Given the description of an element on the screen output the (x, y) to click on. 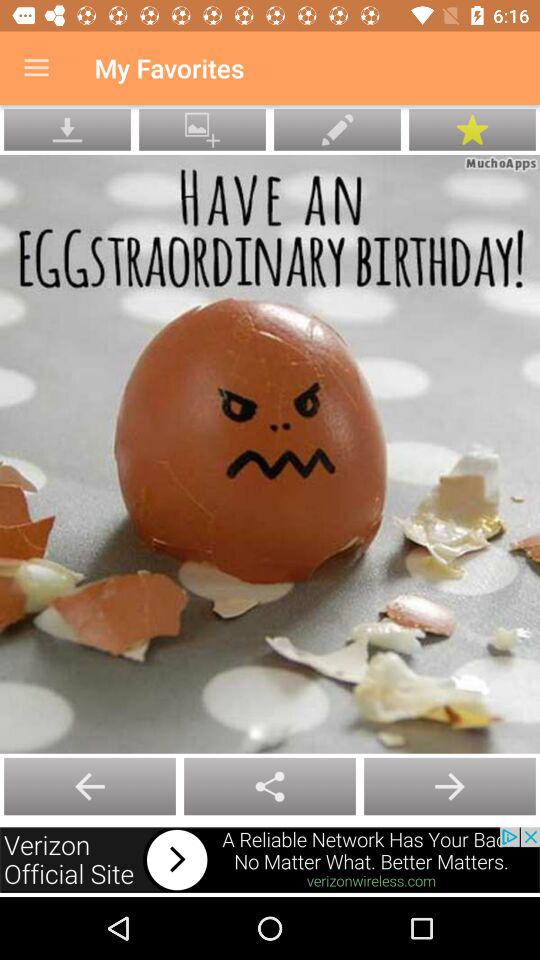
open advertisement (270, 859)
